Given the description of an element on the screen output the (x, y) to click on. 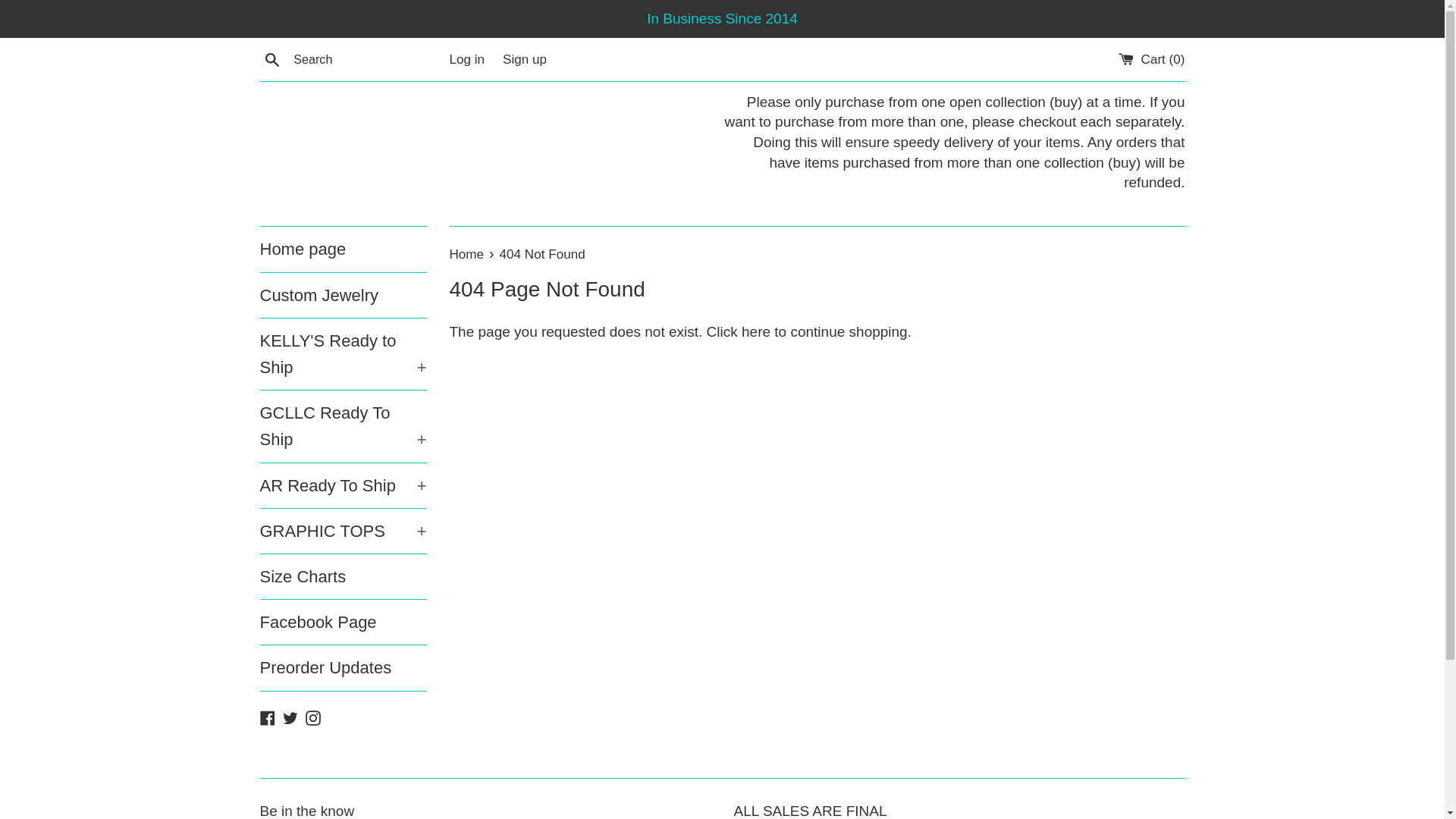
Custom Jewelry (342, 294)
Spade's Boutique on Instagram (312, 716)
Search (271, 58)
Spade's Boutique on Twitter (290, 716)
Home page (342, 248)
Spade's Boutique on Facebook (267, 716)
Log in (466, 59)
Back to the frontpage (467, 254)
Sign up (524, 59)
